Given the description of an element on the screen output the (x, y) to click on. 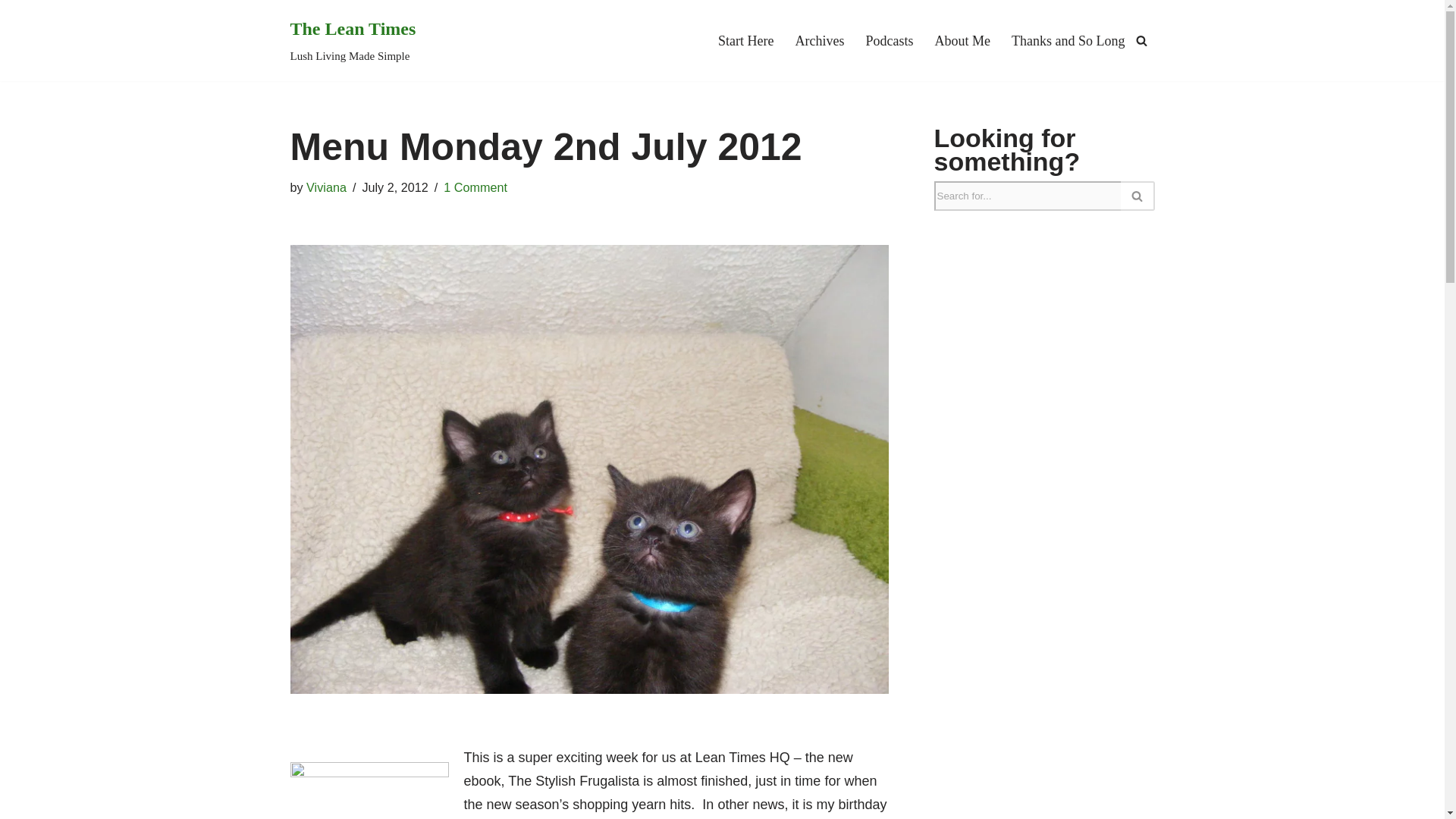
Start Here (745, 40)
Archives (819, 40)
About Me (962, 40)
1 Comment (351, 40)
Posts by Viviana (475, 187)
Skip to content (325, 187)
Viviana (11, 31)
Podcasts (325, 187)
Thanks and So Long (890, 40)
